Given the description of an element on the screen output the (x, y) to click on. 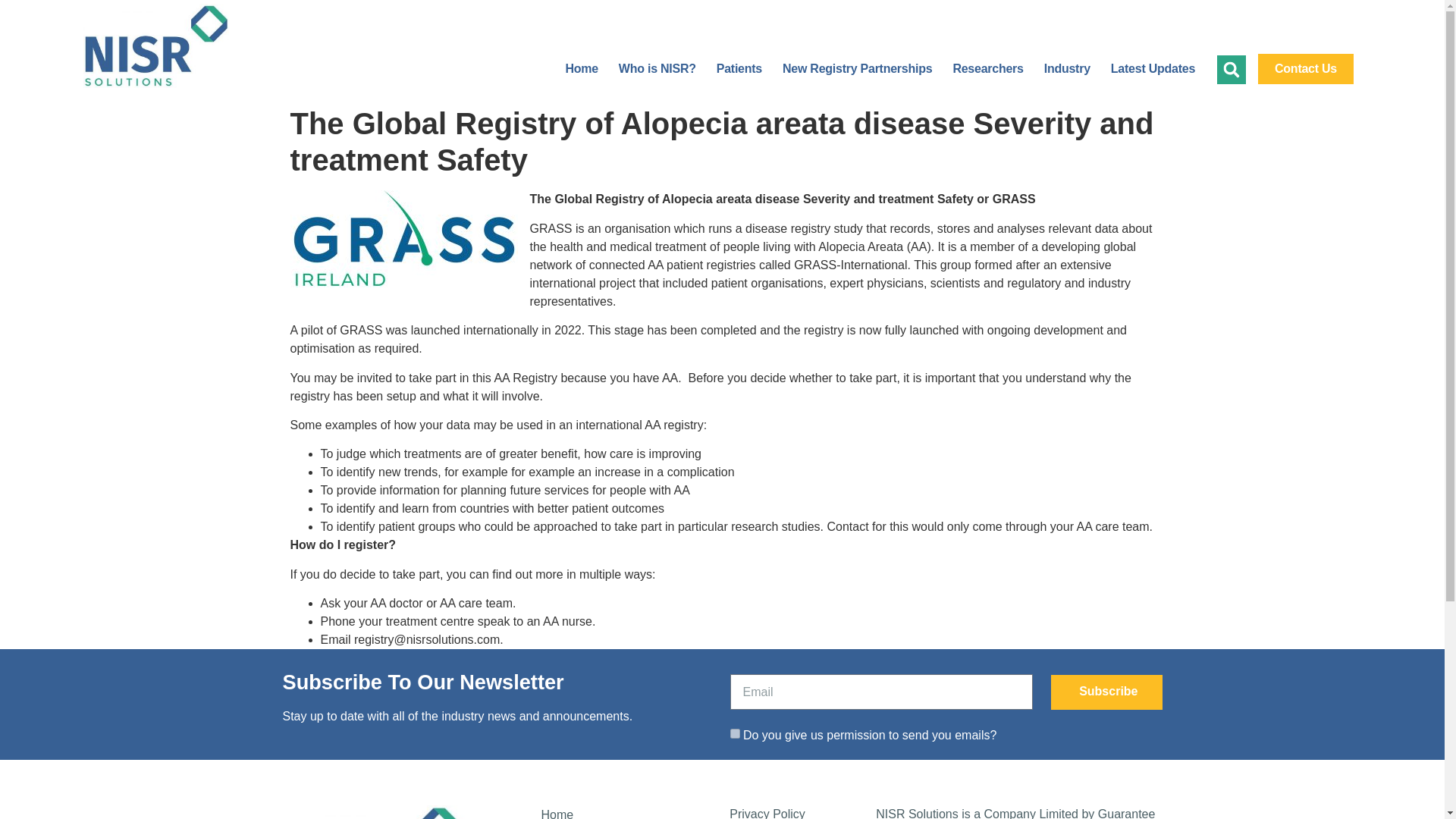
Patients (738, 69)
Contact Us (1305, 69)
Subscribe (1106, 693)
Home (580, 69)
Researchers (987, 69)
New Registry Partnerships (857, 69)
Home (631, 812)
Latest Updates (1152, 69)
Who is NISR? (657, 69)
on (734, 733)
